Given the description of an element on the screen output the (x, y) to click on. 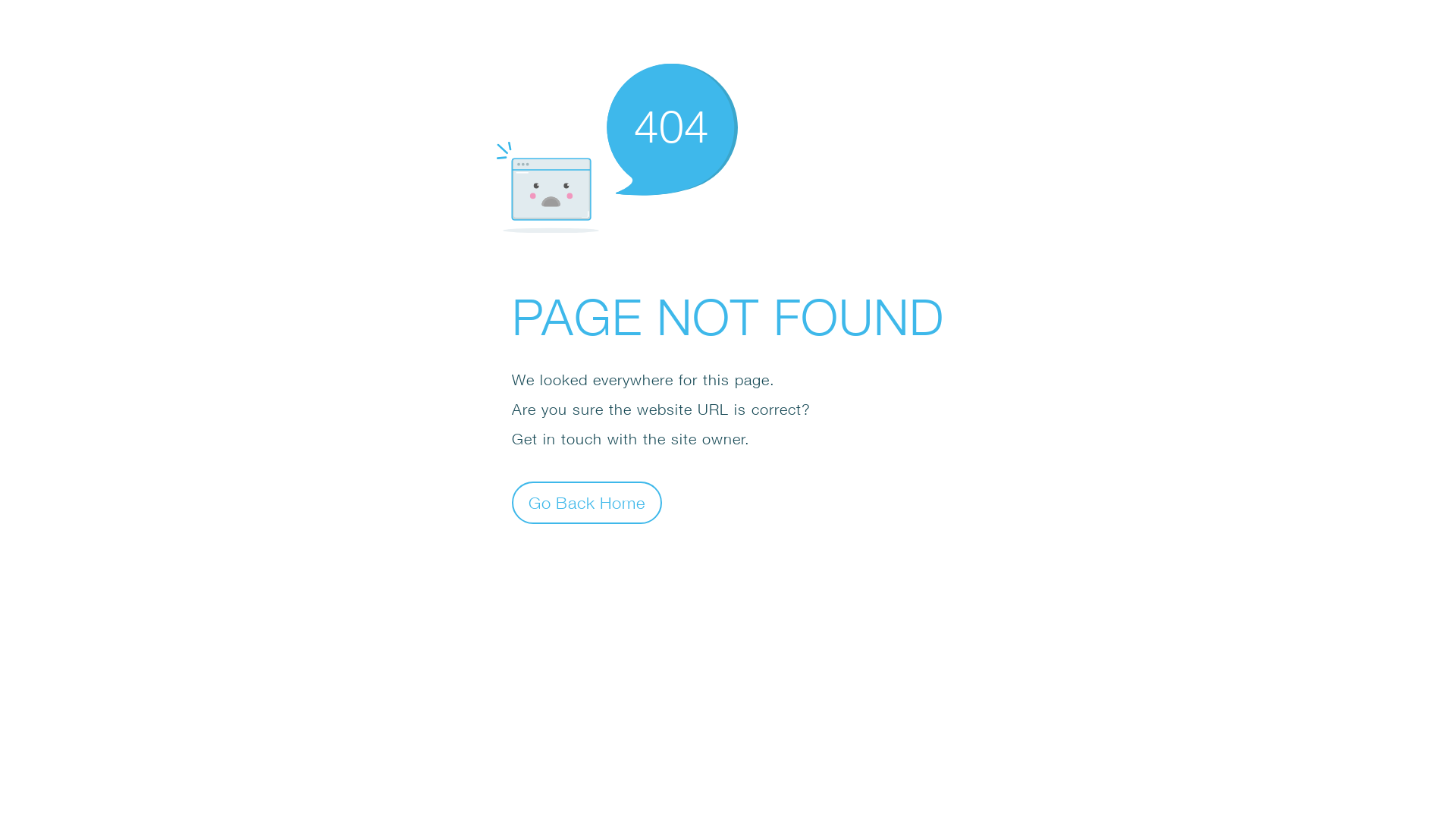
Go Back Home Element type: text (586, 502)
